Given the description of an element on the screen output the (x, y) to click on. 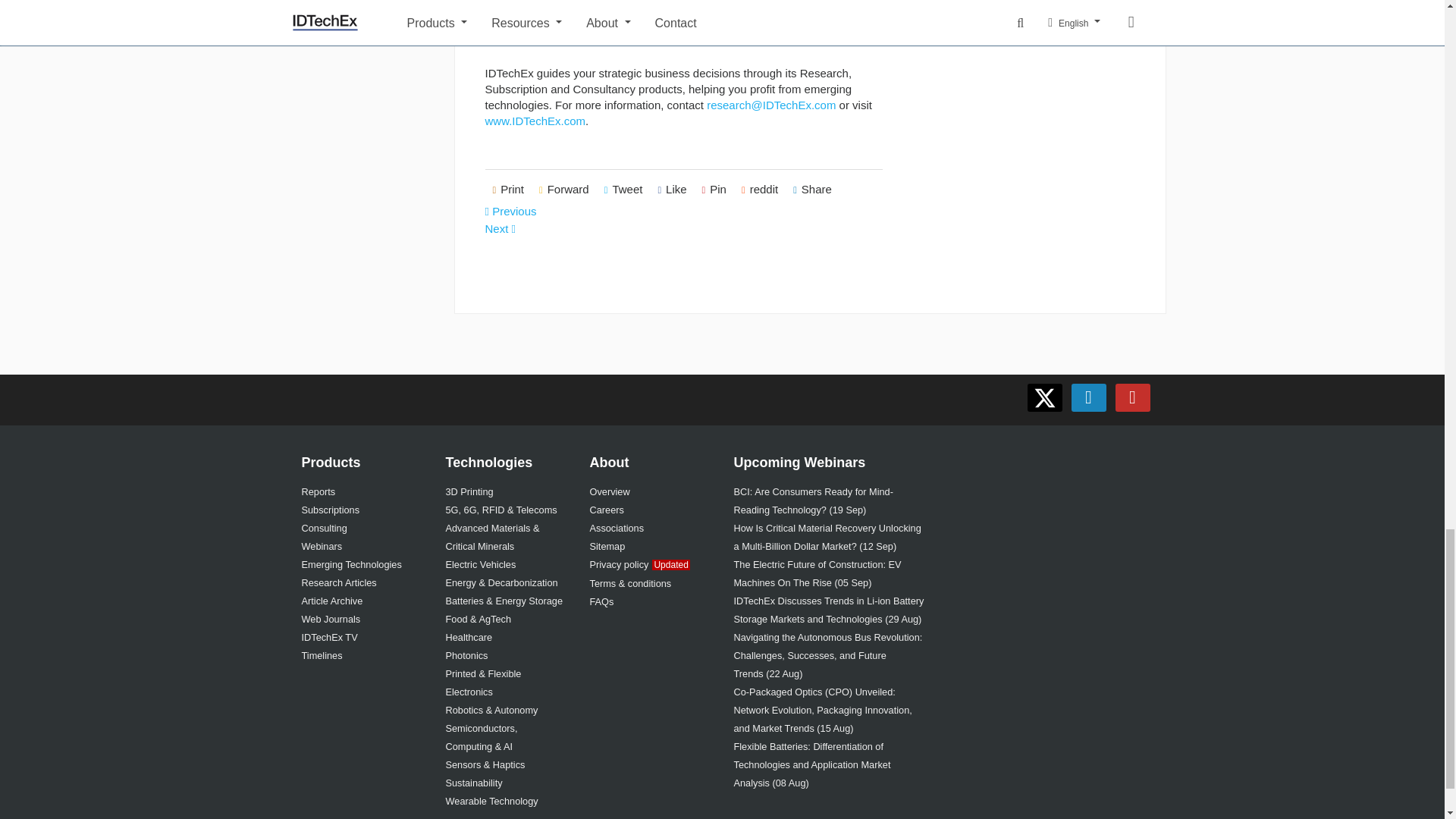
Emerging Technologies (351, 564)
Timelines (321, 655)
Forward to a Friend (563, 189)
Print Article (508, 189)
Article Archive (331, 600)
Consulting (324, 527)
Share on LinkedIn (813, 189)
Share on Pinterest (713, 189)
Subscriptions (330, 509)
Share on Twitter (623, 189)
Share on Facebook (671, 189)
Web Journals (331, 618)
Share on Reddit (759, 189)
3D Printing (469, 491)
Webinars (321, 546)
